Given the description of an element on the screen output the (x, y) to click on. 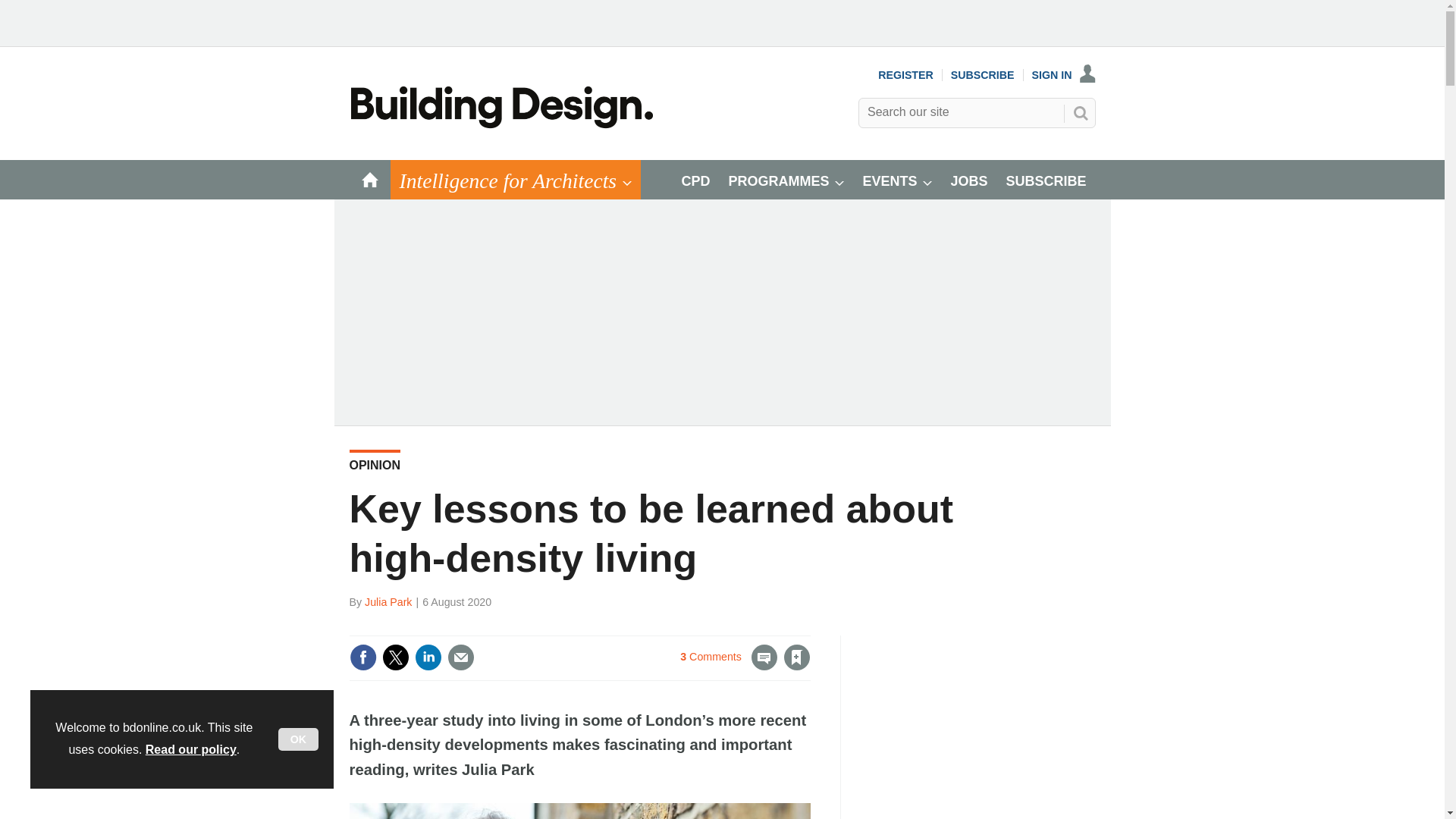
SEARCH (1079, 112)
SUBSCRIBE (982, 74)
Share this on Facebook (362, 656)
SIGN IN (1064, 74)
Read our policy (190, 748)
Share this on Twitter (395, 656)
Email this article (460, 656)
OK (298, 739)
REGISTER (905, 74)
